Given the description of an element on the screen output the (x, y) to click on. 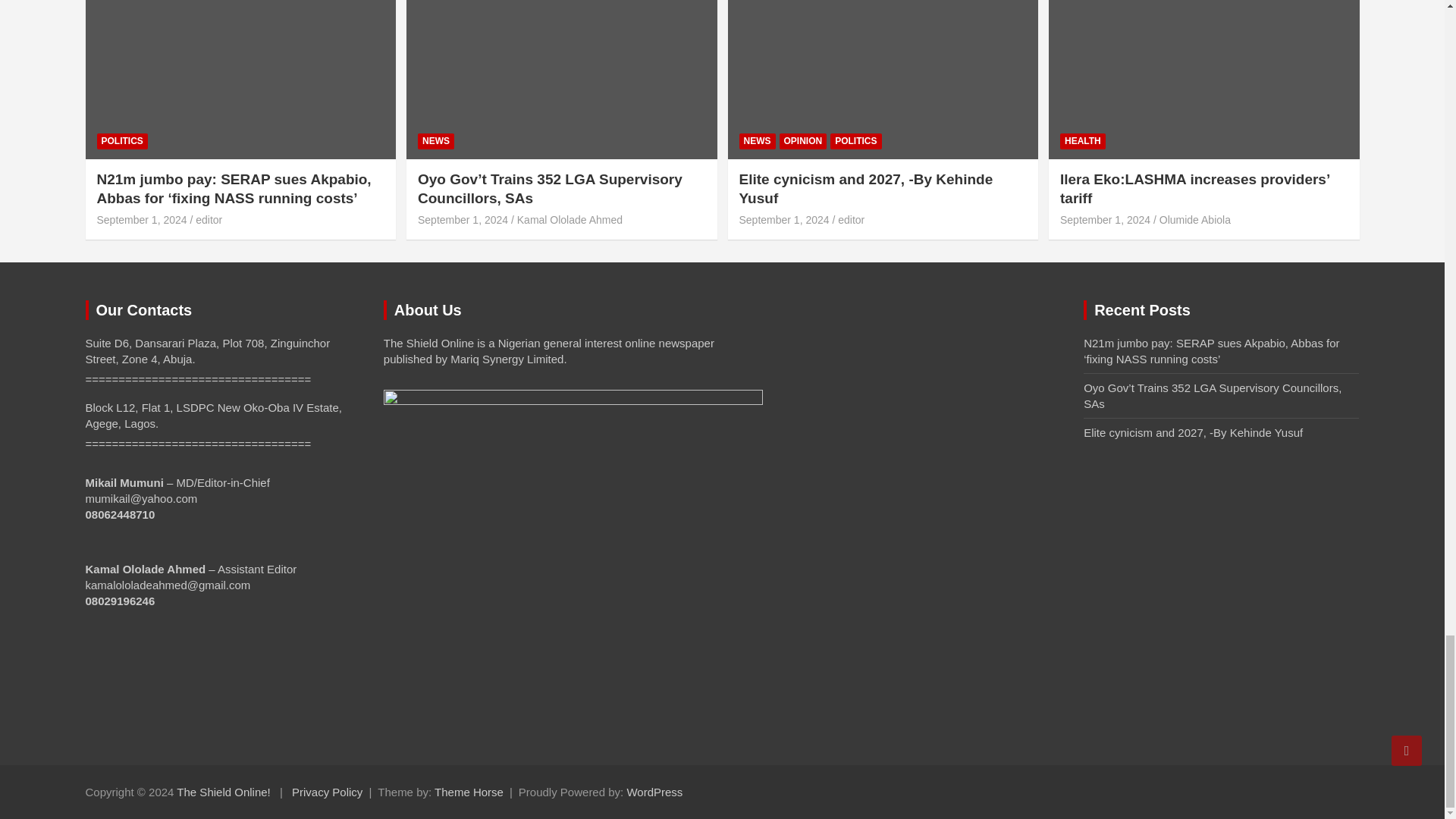
The Shield Online! (222, 791)
Theme Horse (468, 791)
Elite cynicism and 2027, -By Kehinde Yusuf (783, 219)
WordPress (654, 791)
